Given the description of an element on the screen output the (x, y) to click on. 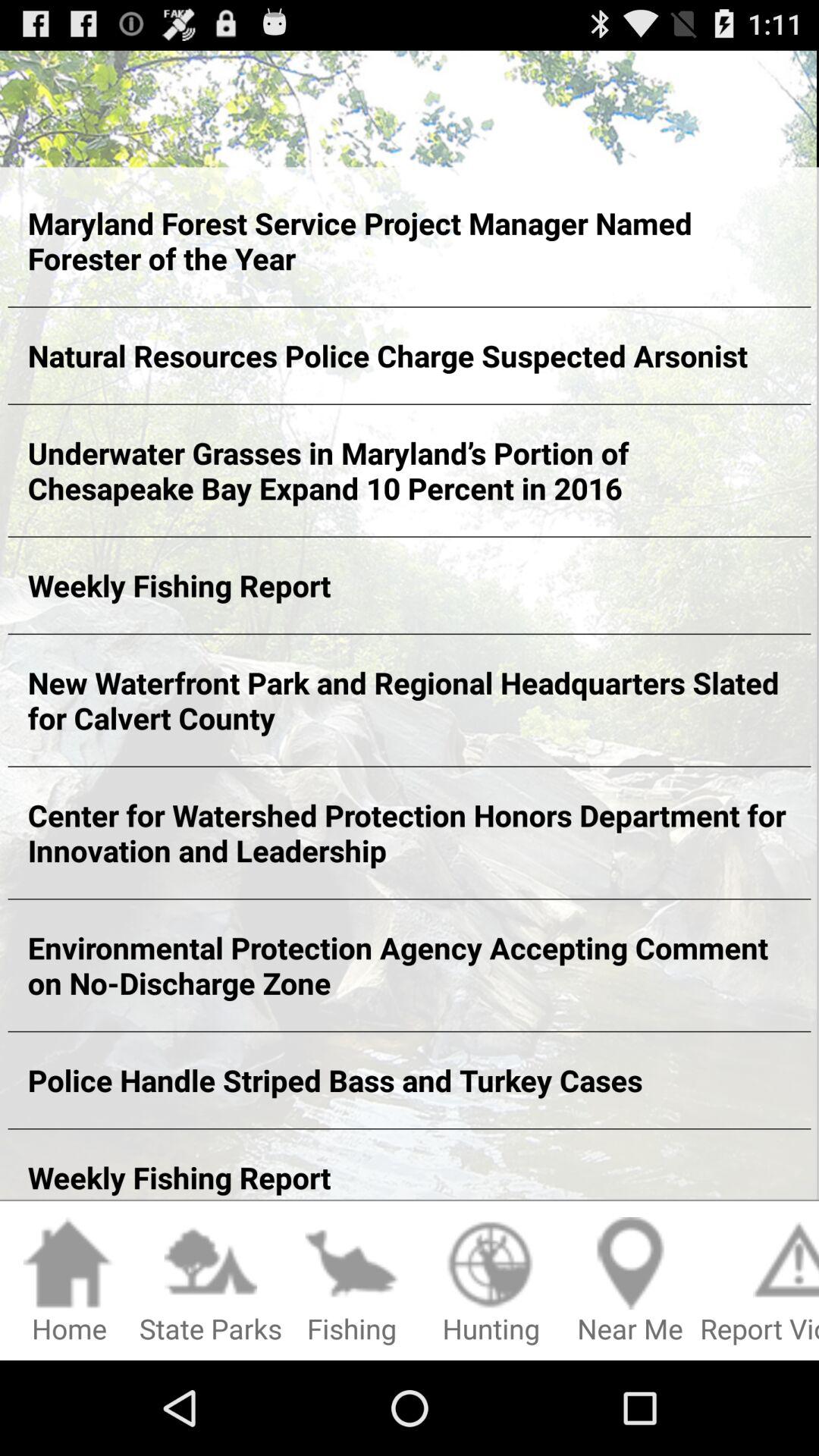
scroll to the report violation item (759, 1282)
